Given the description of an element on the screen output the (x, y) to click on. 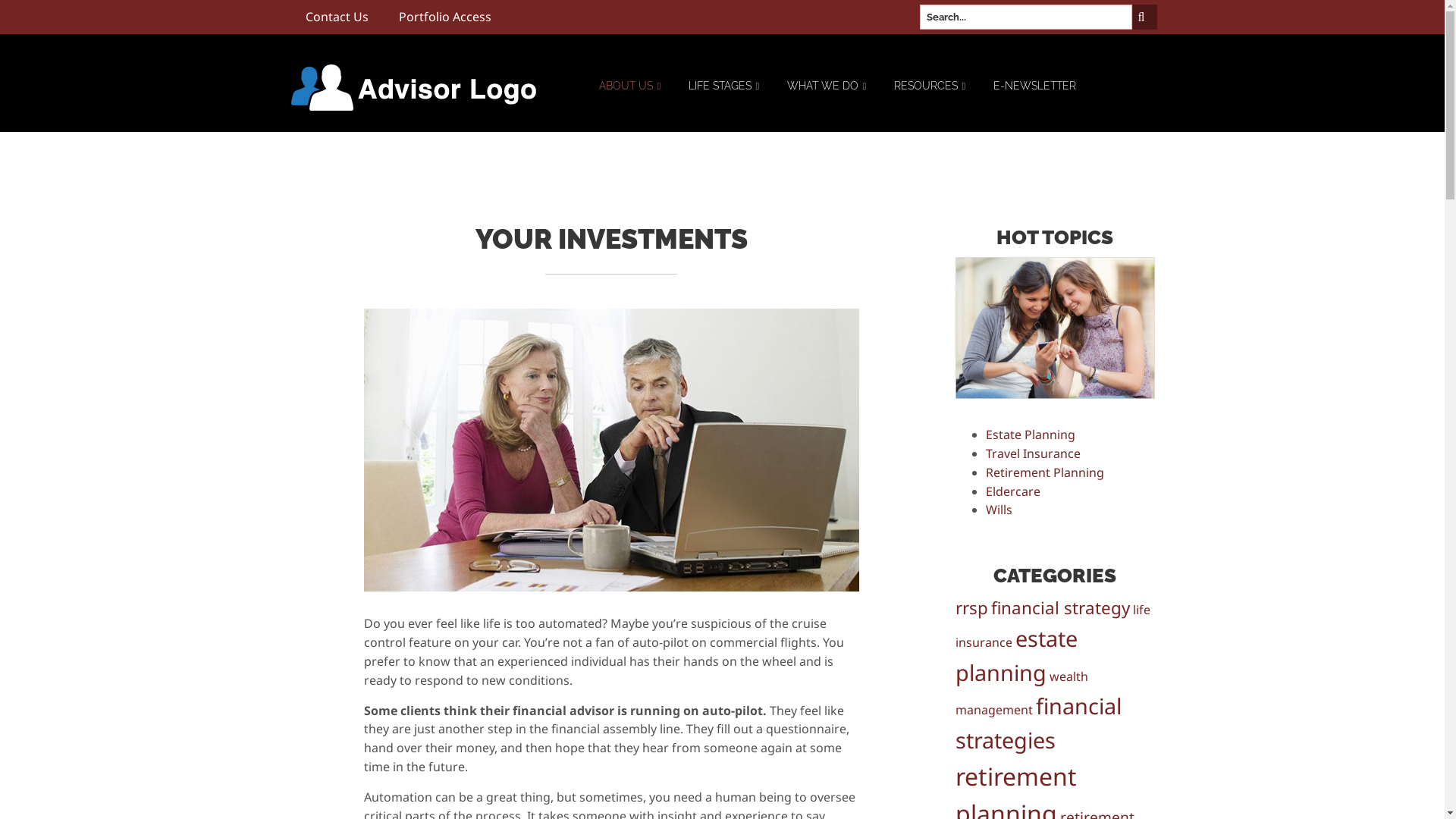
Portfolio Access Element type: text (444, 16)
financial strategies Element type: text (1038, 722)
Home Element type: hover (412, 87)
Travel Insurance Element type: text (1032, 453)
Contact Us Element type: text (335, 16)
Estate Planning Element type: text (1030, 434)
Skip to main content Element type: text (59, 0)
life insurance Element type: text (1052, 625)
RESOURCES Element type: text (930, 96)
WHAT WE DO Element type: text (826, 96)
E-NEWSLETTER Element type: text (1033, 96)
Wills Element type: text (998, 509)
LIFE STAGES Element type: text (723, 96)
Retirement Planning Element type: text (1044, 472)
rrsp Element type: text (971, 607)
wealth management Element type: text (1021, 693)
financial strategy Element type: text (1060, 607)
estate planning Element type: text (1016, 655)
Eldercare Element type: text (1012, 491)
ABOUT US Element type: text (629, 96)
